Given the description of an element on the screen output the (x, y) to click on. 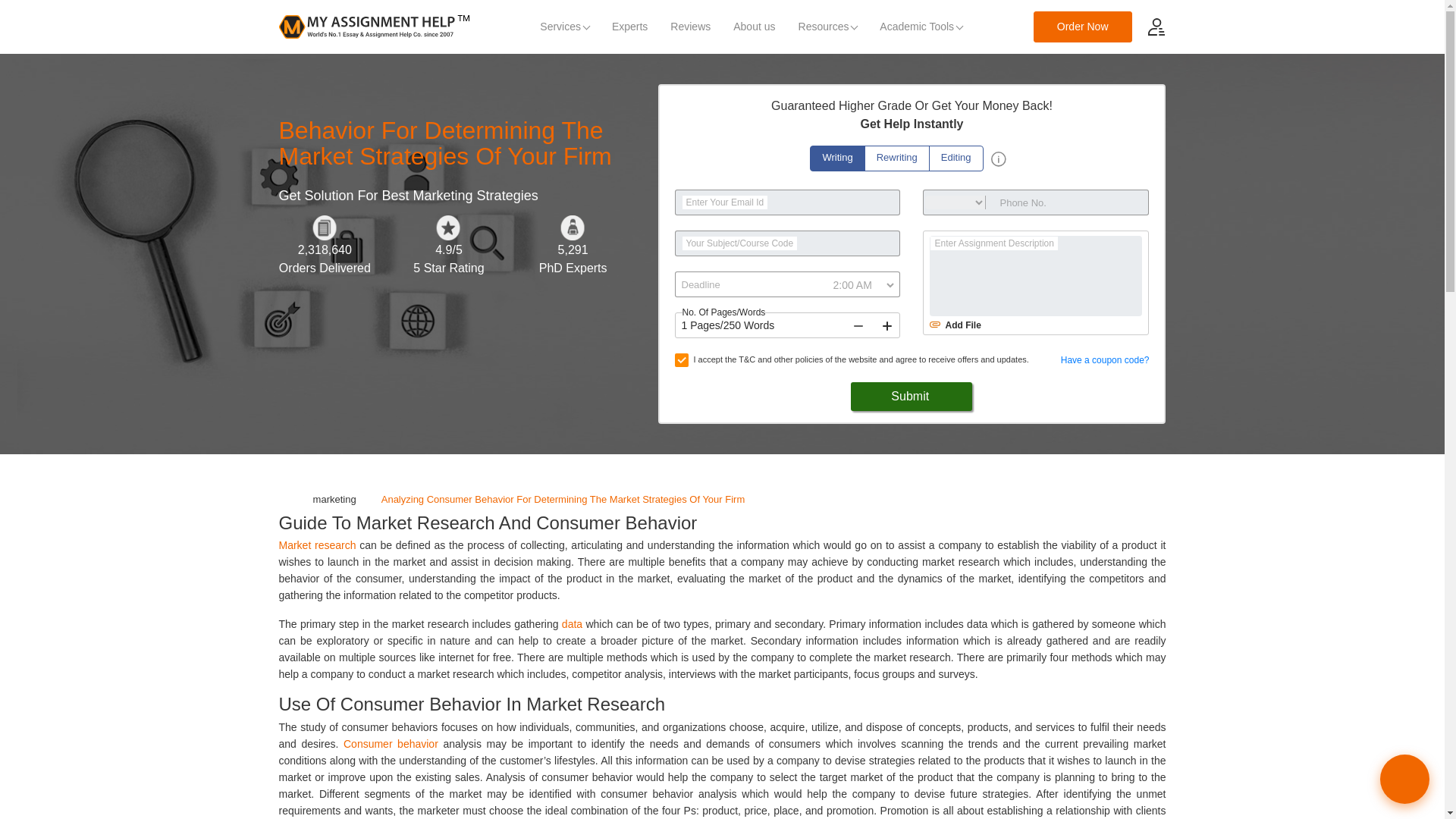
About us (754, 26)
Info (998, 159)
Experts (629, 26)
Resources (828, 26)
Reviews (690, 26)
menu (1156, 26)
Services (563, 26)
